Given the description of an element on the screen output the (x, y) to click on. 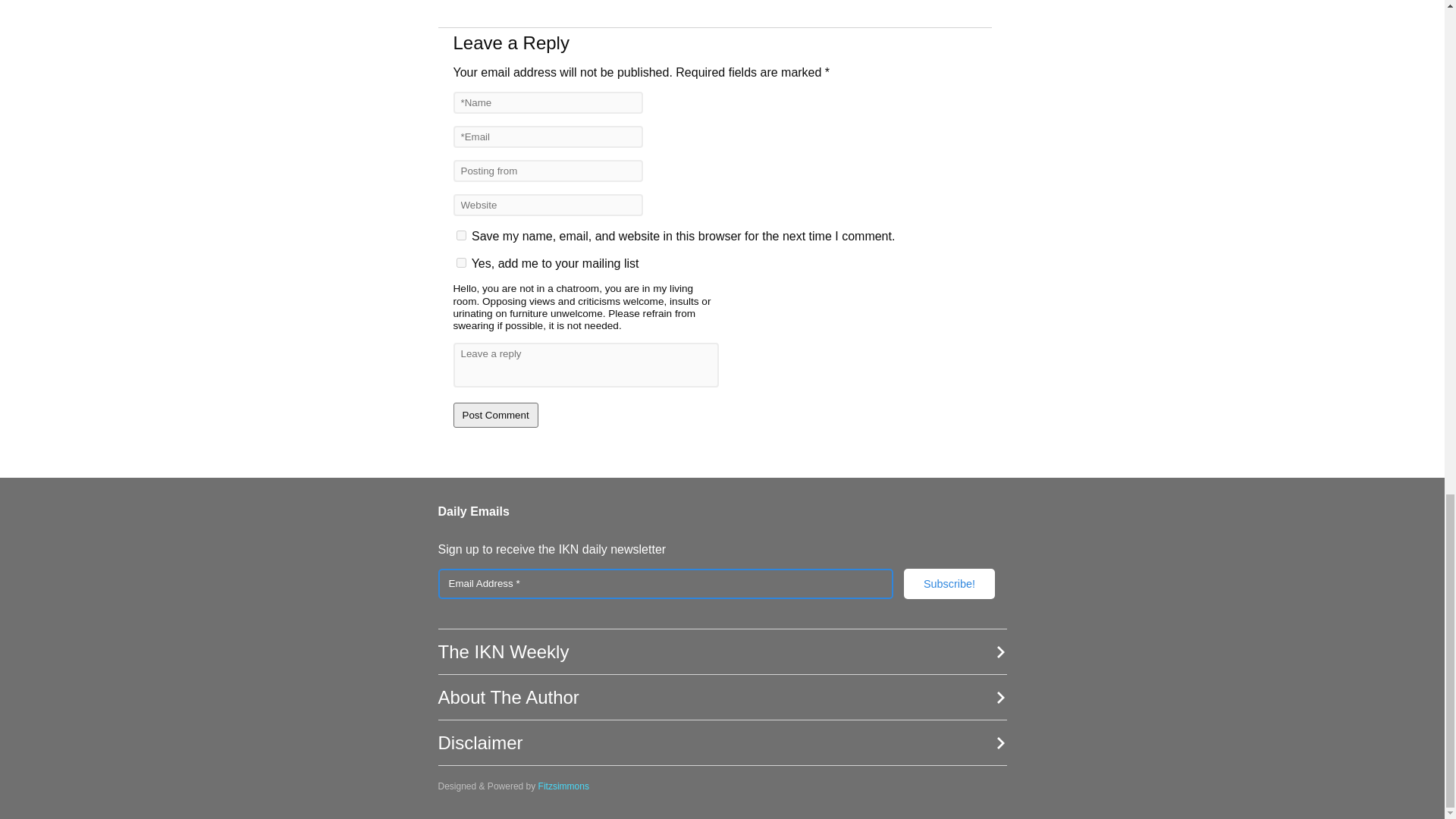
Email Address (665, 583)
About The Author (722, 697)
Subscribe! (949, 583)
Fitzsimmons (563, 786)
Post Comment (495, 414)
Subscribe! (949, 583)
yes (461, 235)
1 (461, 262)
Post Comment (495, 414)
